Given the description of an element on the screen output the (x, y) to click on. 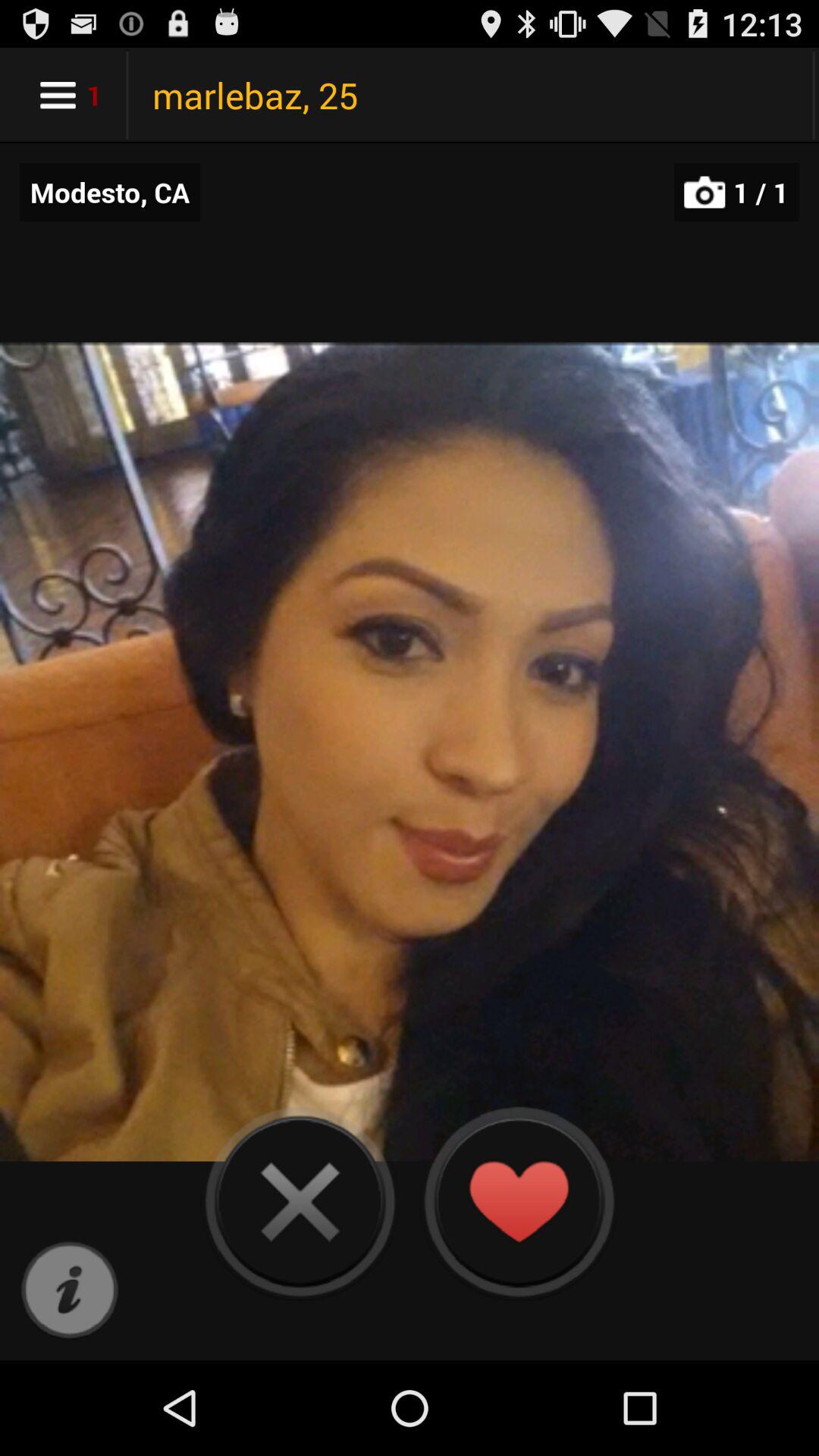
interested (518, 1200)
